Given the description of an element on the screen output the (x, y) to click on. 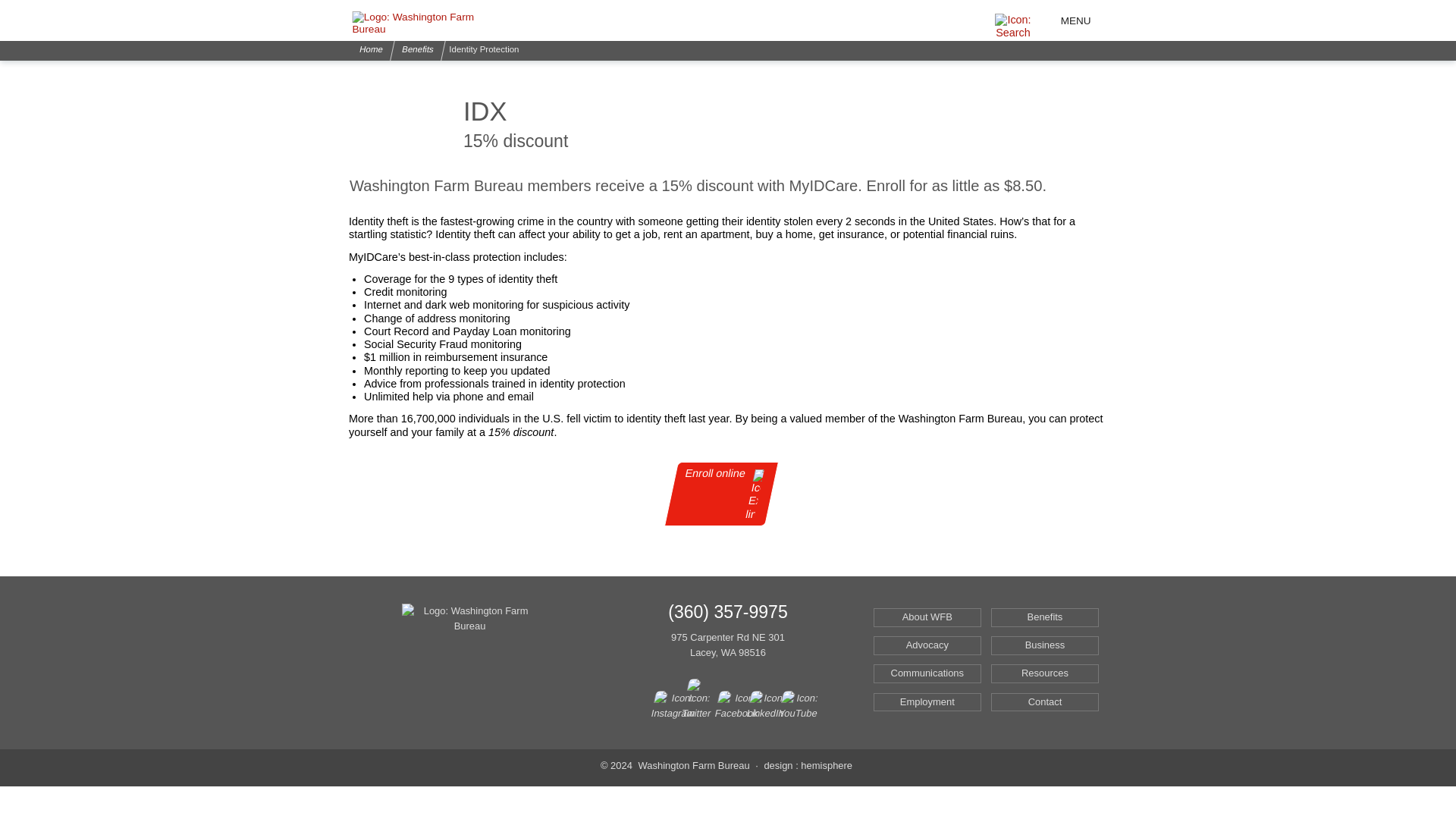
Home (368, 50)
About WFB (927, 617)
Enroll online (714, 493)
Benefits (415, 50)
